Given the description of an element on the screen output the (x, y) to click on. 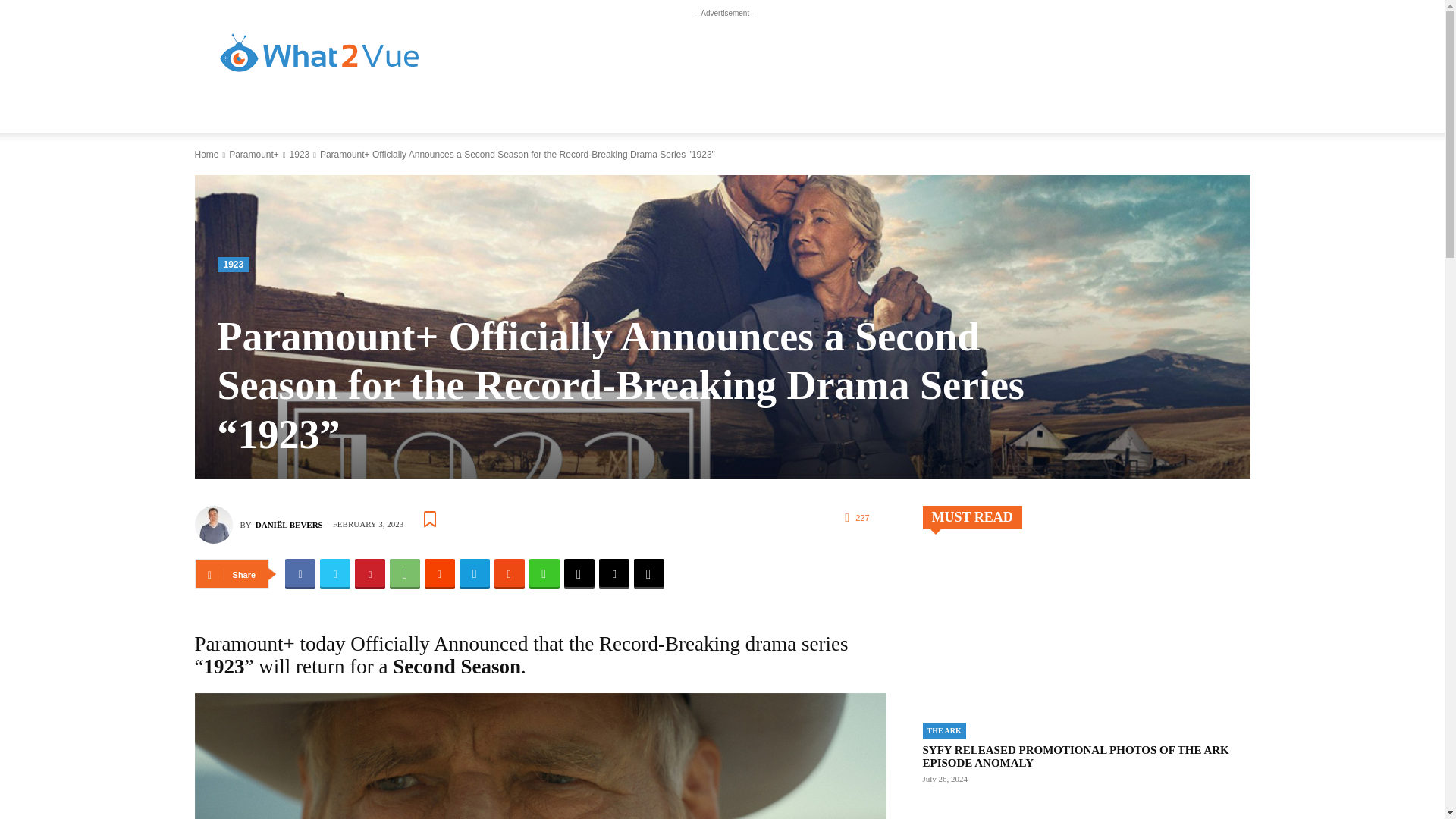
What 2 Vue (319, 55)
